Given the description of an element on the screen output the (x, y) to click on. 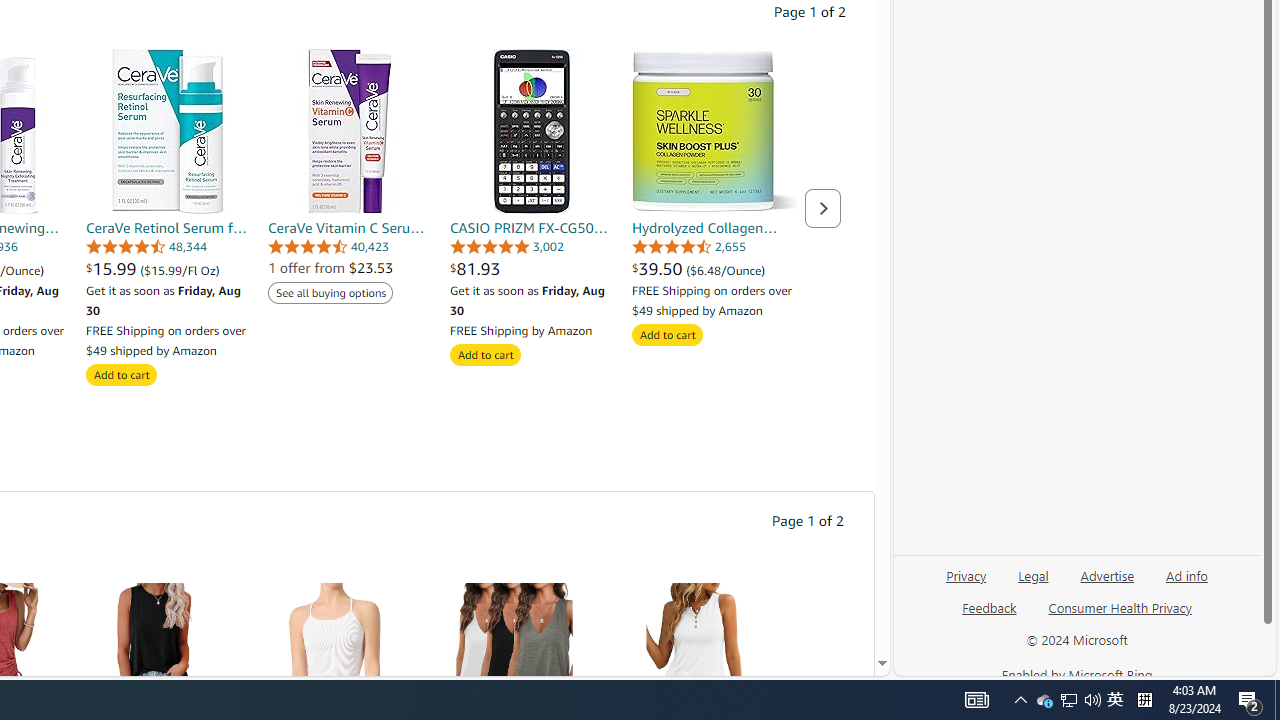
Class: a-link-normal a-text-normal (714, 268)
See all buying options (330, 292)
Privacy (966, 583)
Add to cart (667, 335)
Privacy (965, 574)
Ad info (1186, 583)
($15.99/Fl Oz) (179, 269)
Legal (1033, 583)
$81.93 (532, 268)
Ad info (1187, 574)
Next page (822, 208)
